Given the description of an element on the screen output the (x, y) to click on. 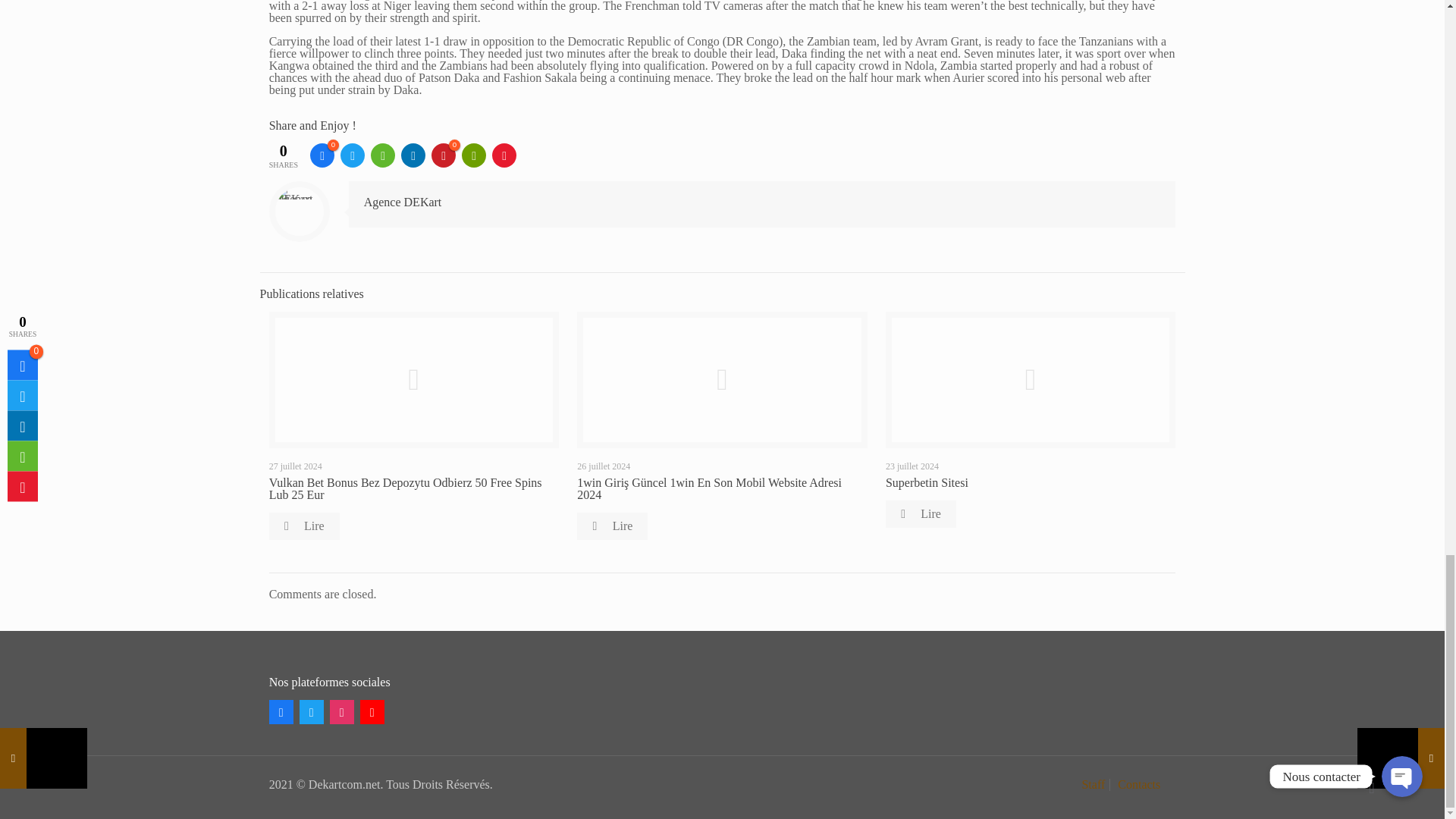
Print this article  (473, 155)
WhatsApp (382, 155)
Tweet this ! (352, 155)
Instagram (341, 711)
Facebook (281, 711)
Submit this to Pinterest (442, 155)
Convert to PDF (504, 155)
Share this on Facebook (322, 155)
Twitter (311, 711)
Youtube (371, 711)
Add this to LinkedIn (413, 155)
